Given the description of an element on the screen output the (x, y) to click on. 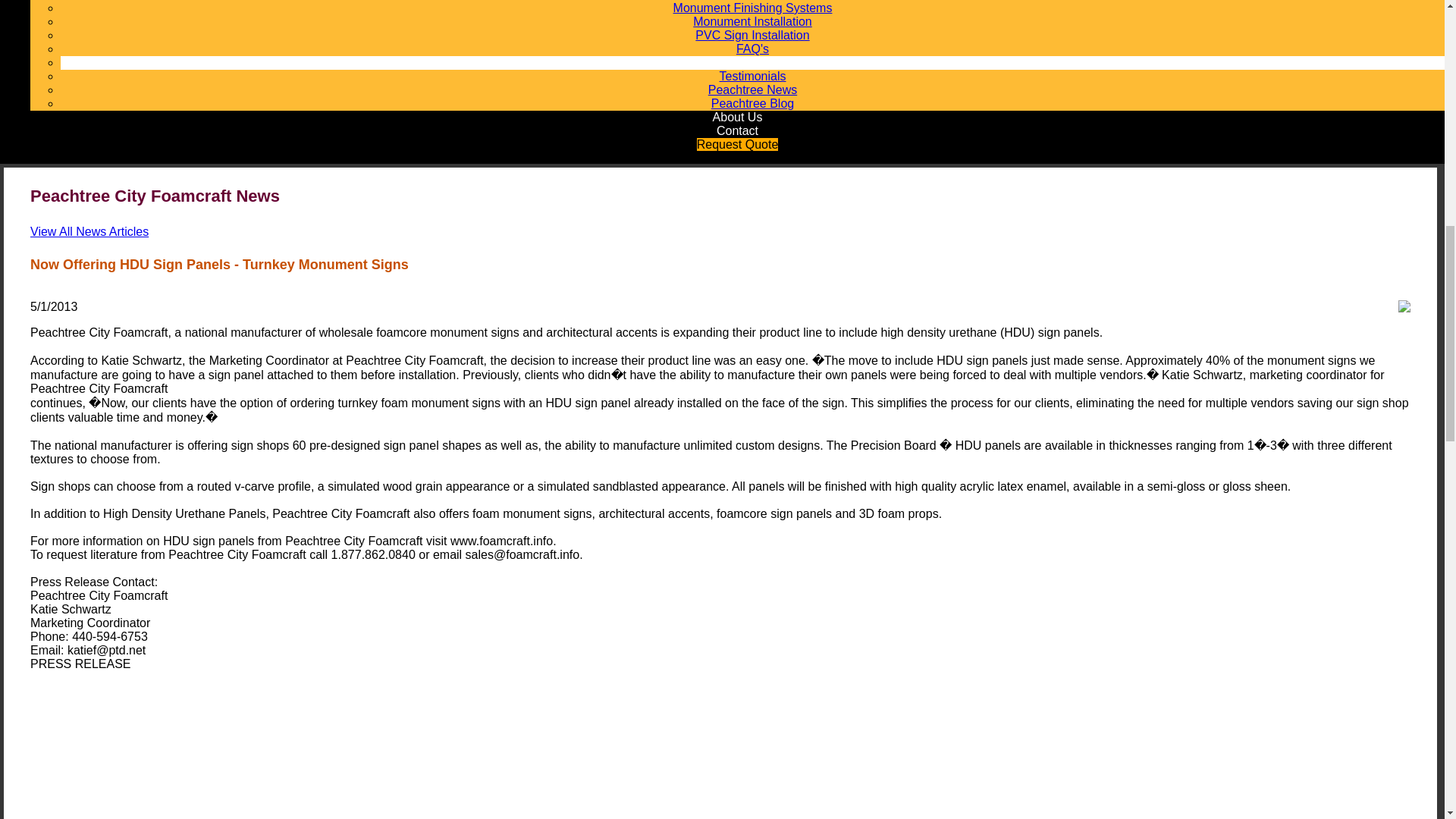
Monument Installation (752, 21)
PVC Sign Installation (752, 34)
FAQ's (752, 48)
Monument Finishing Systems (752, 7)
